Given the description of an element on the screen output the (x, y) to click on. 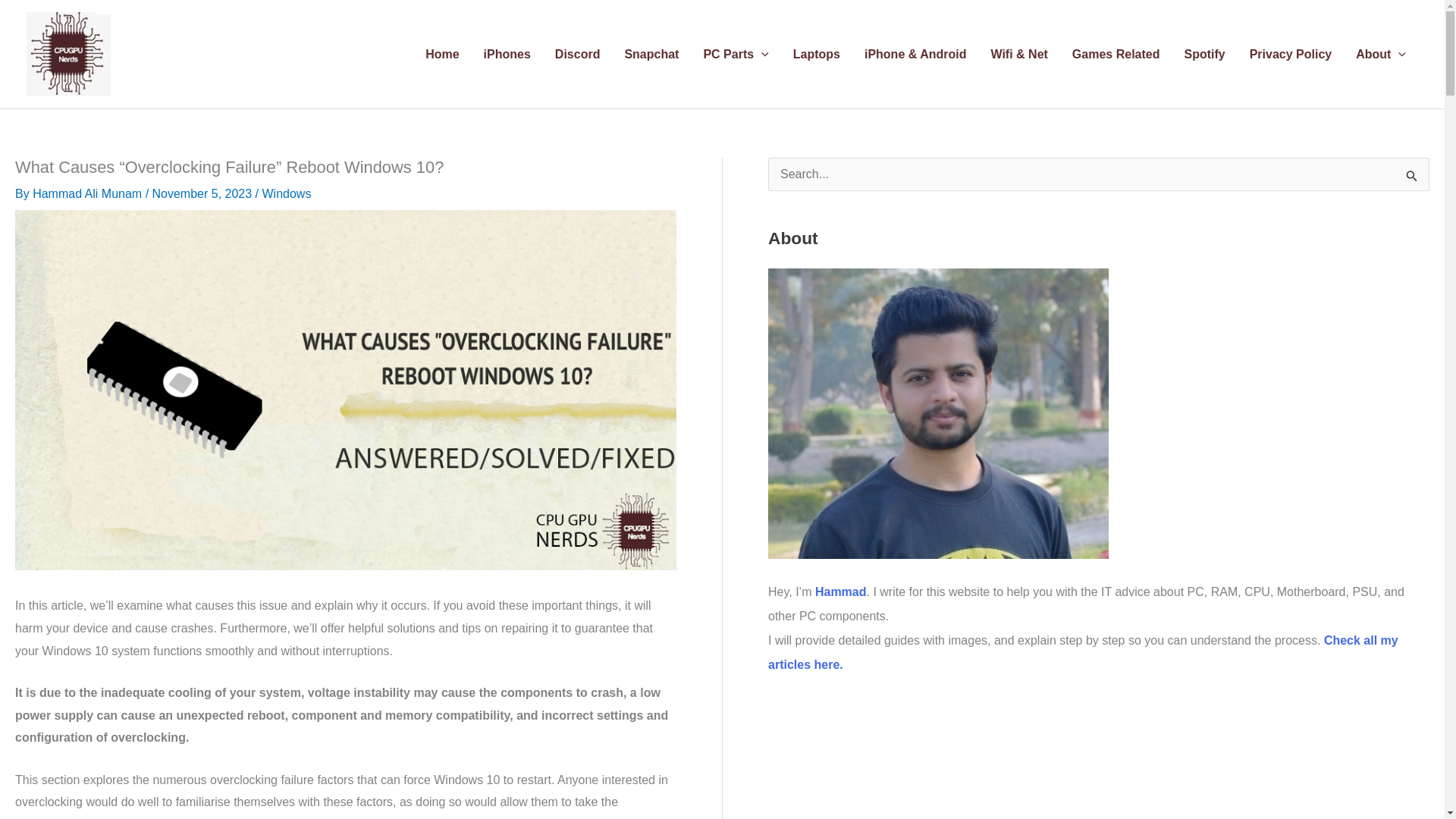
Privacy Policy (1290, 53)
About (1380, 53)
Hammad Ali Munam (88, 193)
Windows (286, 193)
Laptops (815, 53)
View all posts by Hammad Ali Munam (88, 193)
Games Related (1115, 53)
Spotify (1204, 53)
Snapchat (650, 53)
PC Parts (735, 53)
